Given the description of an element on the screen output the (x, y) to click on. 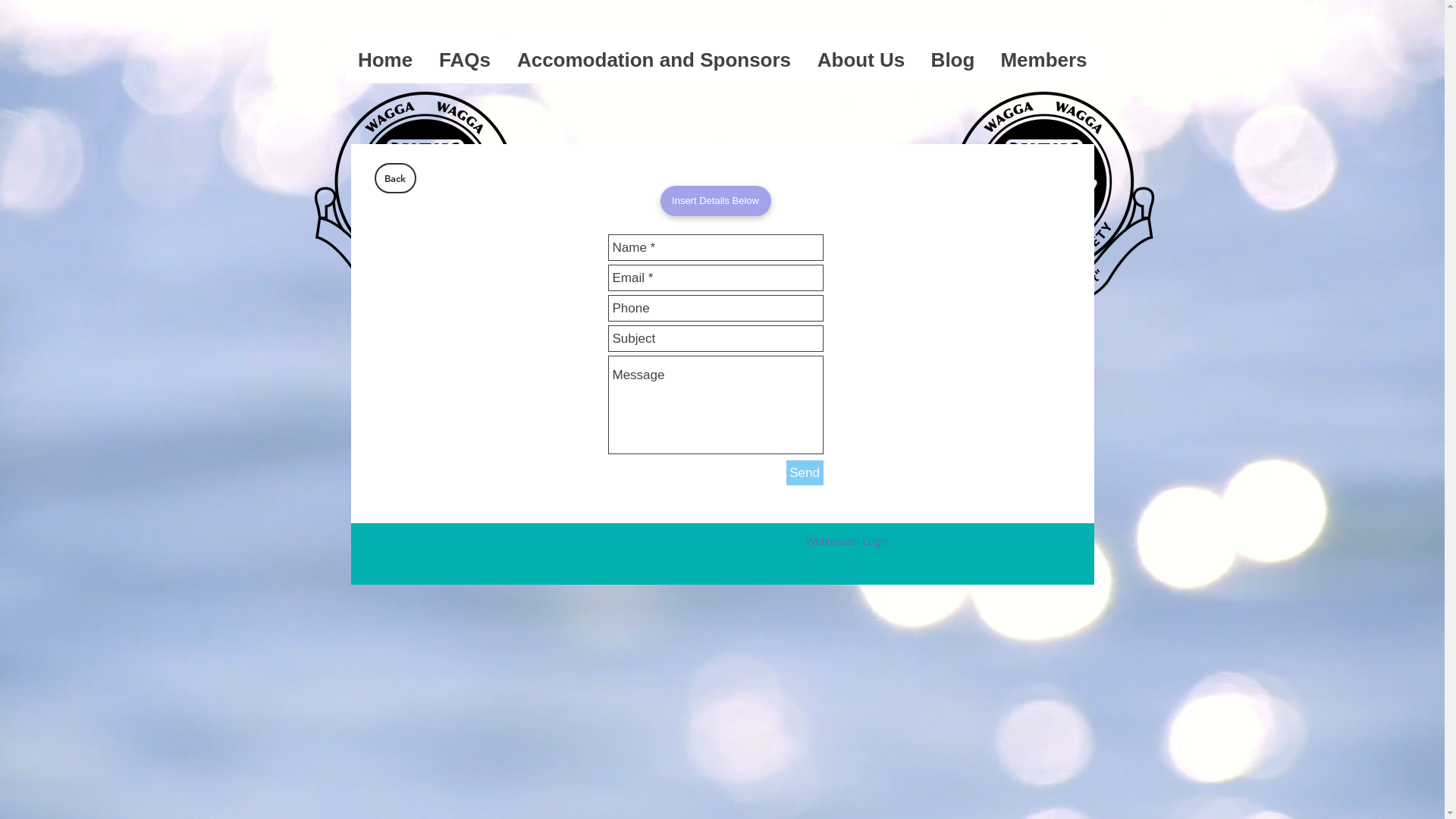
Blog Element type: text (952, 64)
FAQs Element type: text (465, 64)
Members Element type: text (1043, 64)
Webmaster Login Element type: text (846, 541)
Home Element type: text (384, 64)
Send Element type: text (803, 472)
Back Element type: text (395, 178)
About Us Element type: text (860, 64)
Accomodation and Sponsors Element type: text (653, 64)
